Given the description of an element on the screen output the (x, y) to click on. 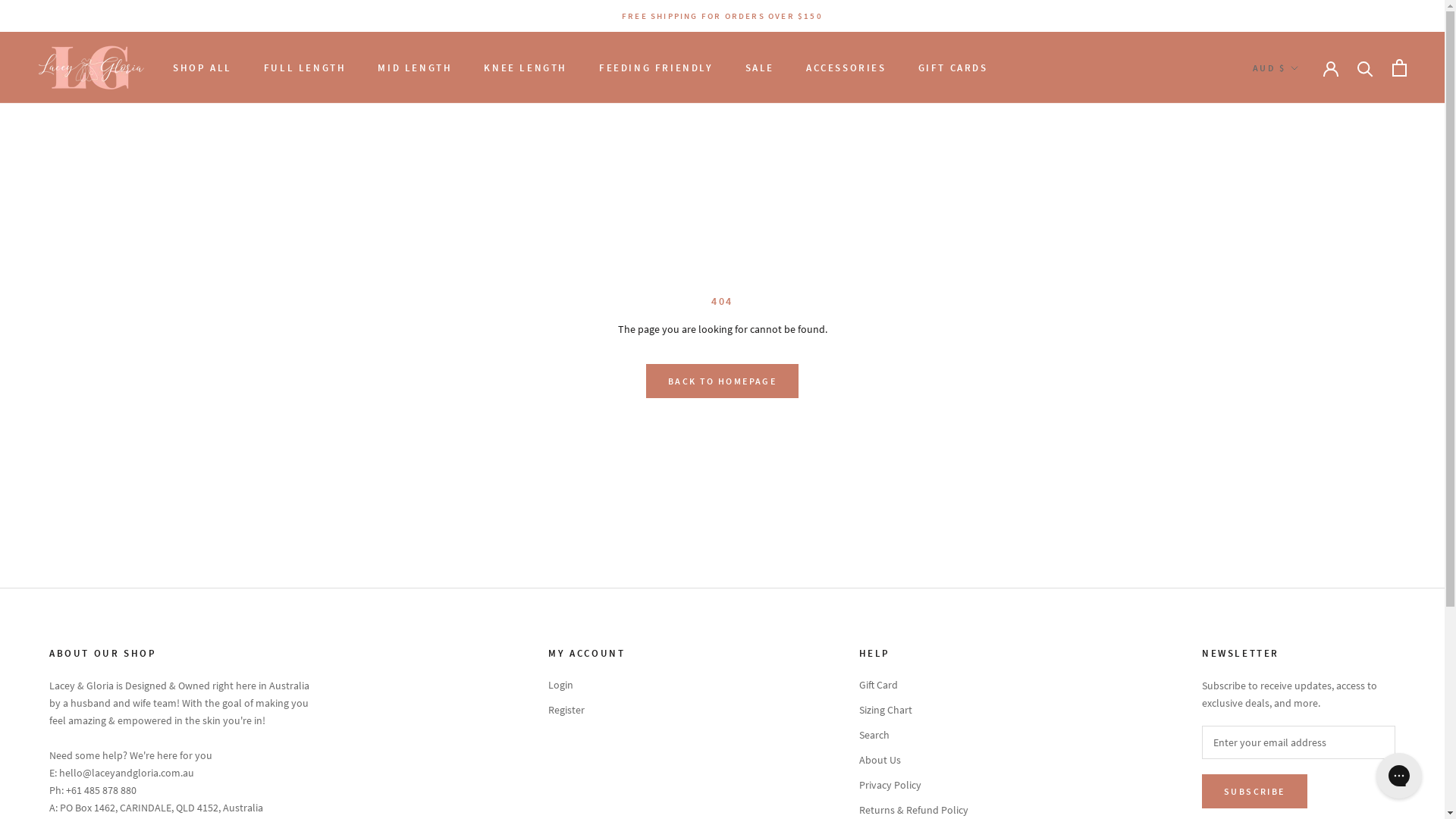
SGD Element type: text (1292, 214)
SALE
SALE Element type: text (759, 67)
ACCESSORIES
ACCESSORIES Element type: text (846, 67)
USD Element type: text (1292, 237)
Login Element type: text (586, 685)
MID LENGTH
MID LENGTH Element type: text (414, 67)
KNEE LENGTH
KNEE LENGTH Element type: text (525, 67)
About Us Element type: text (913, 760)
Register Element type: text (586, 710)
SHOP ALL
SHOP ALL Element type: text (202, 67)
Returns & Refund Policy Element type: text (913, 810)
FEEDING FRIENDLY
FEEDING FRIENDLY Element type: text (656, 67)
Search Element type: text (913, 735)
Gift Card Element type: text (913, 685)
BACK TO HOMEPAGE Element type: text (722, 381)
Privacy Policy Element type: text (913, 785)
AUD Element type: text (1292, 102)
SUBSCRIBE Element type: text (1254, 791)
HKD Element type: text (1292, 169)
NZD Element type: text (1292, 192)
GIFT CARDS
GIFT CARDS Element type: text (953, 67)
FULL LENGTH
FULL LENGTH Element type: text (304, 67)
Sizing Chart Element type: text (913, 710)
AUD $ Element type: text (1275, 68)
Gorgias live chat messenger Element type: hover (1398, 775)
EUR Element type: text (1292, 147)
CAD Element type: text (1292, 124)
